Given the description of an element on the screen output the (x, y) to click on. 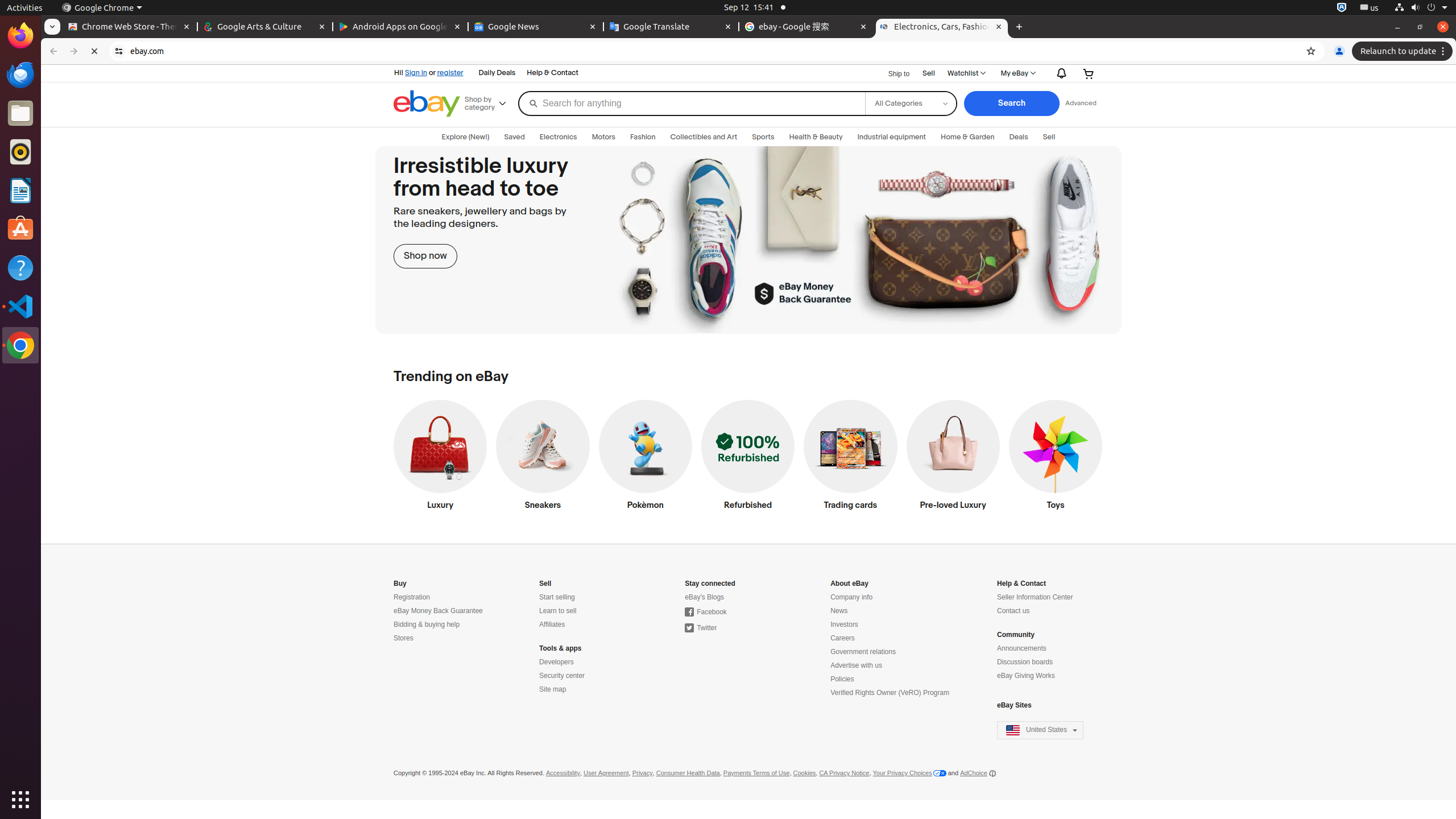
eBay Giving Works Element type: link (1026, 675)
Government relations Element type: link (862, 651)
:1.21/StatusNotifierItem Element type: menu (1369, 7)
Your Privacy Choices Element type: link (909, 773)
Start selling Element type: link (557, 597)
